Given the description of an element on the screen output the (x, y) to click on. 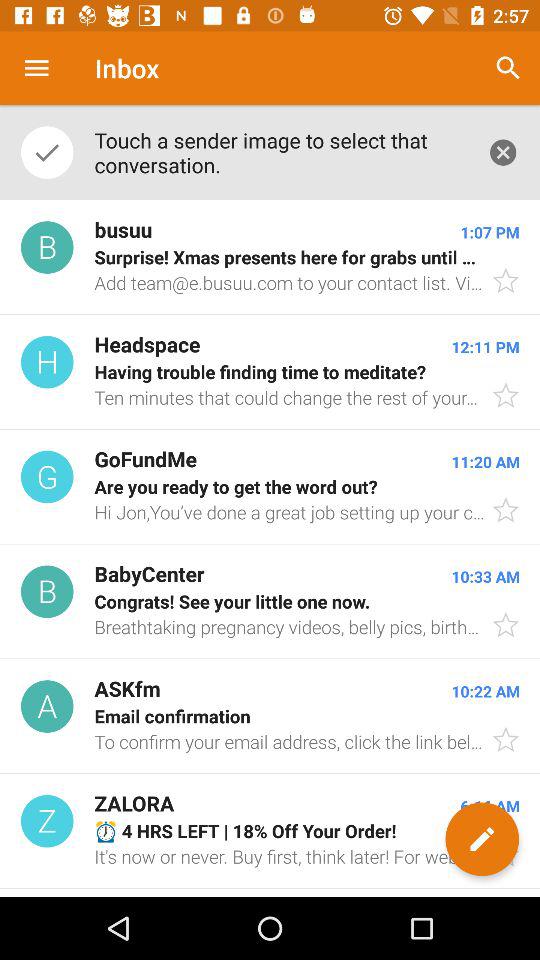
launch icon to the right of the touch a sender icon (508, 67)
